Given the description of an element on the screen output the (x, y) to click on. 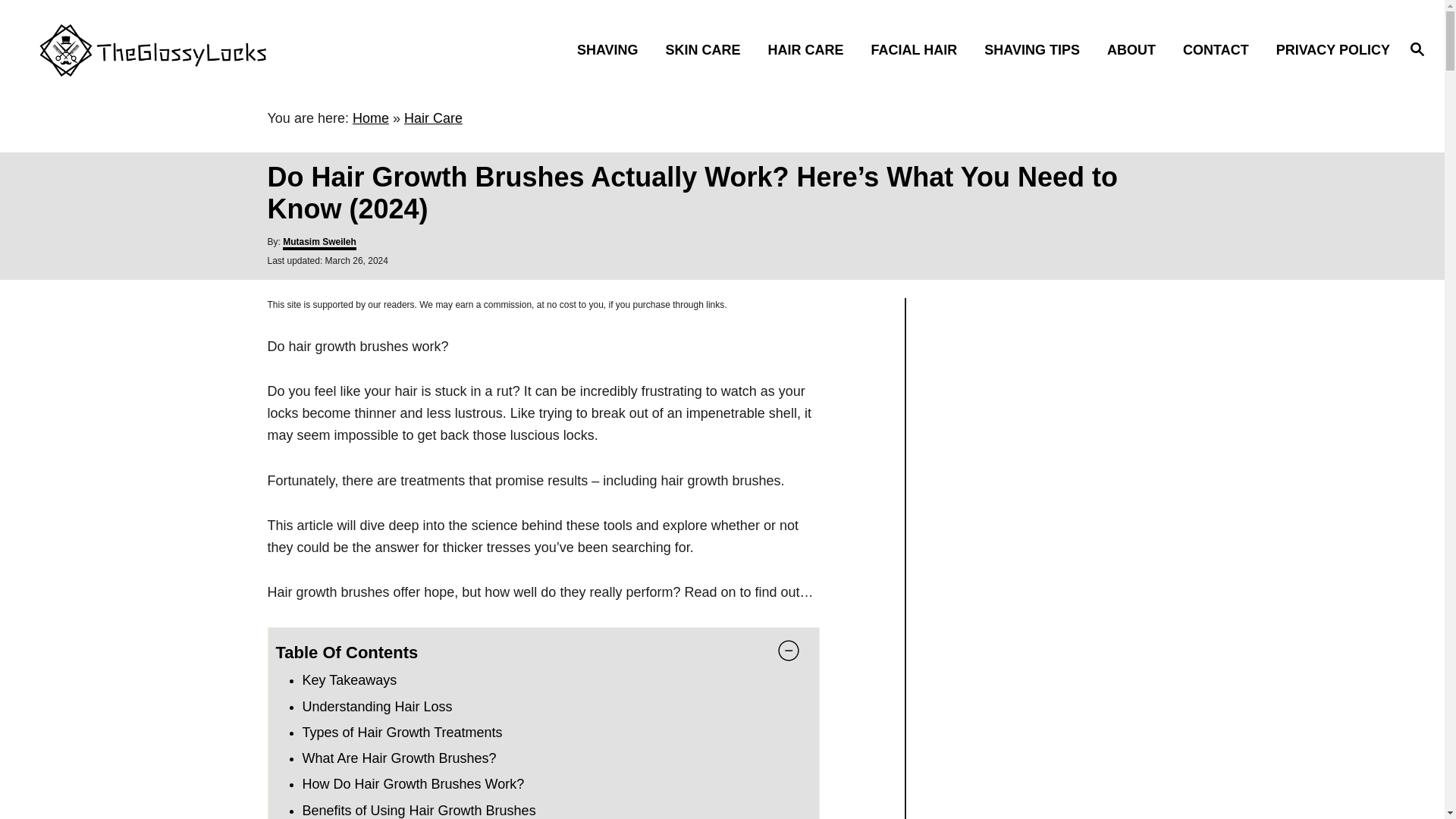
Magnifying Glass (1416, 48)
Key Takeaways (348, 679)
Hair Care (433, 118)
Understanding Hair Loss (376, 706)
ABOUT (1135, 49)
FACIAL HAIR (918, 49)
SHAVING (611, 49)
SHAVING TIPS (1036, 49)
CONTACT (1219, 49)
SKIN CARE (707, 49)
Mutasim Sweileh (319, 243)
TheGlossyLocks (204, 49)
Home (370, 118)
How Do Hair Growth Brushes Work? (412, 783)
What Are Hair Growth Brushes? (398, 758)
